Given the description of an element on the screen output the (x, y) to click on. 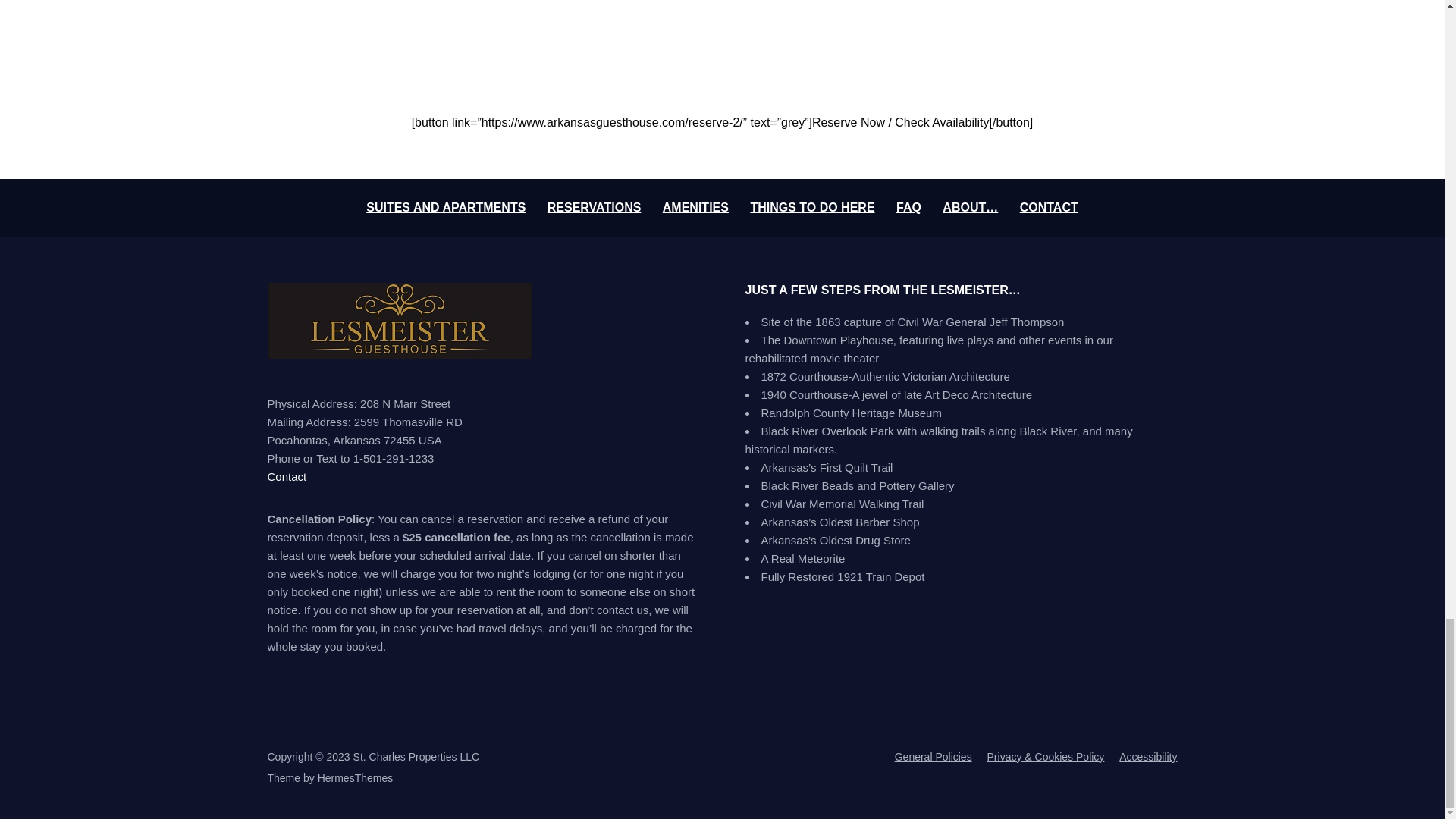
Accessibility (1147, 756)
Contact (285, 476)
HermesThemes (355, 777)
General Policies (933, 756)
SUITES AND APARTMENTS (445, 206)
AMENITIES (695, 206)
RESERVATIONS (594, 206)
FAQ (908, 206)
CONTACT (1049, 206)
THINGS TO DO HERE (812, 206)
